Given the description of an element on the screen output the (x, y) to click on. 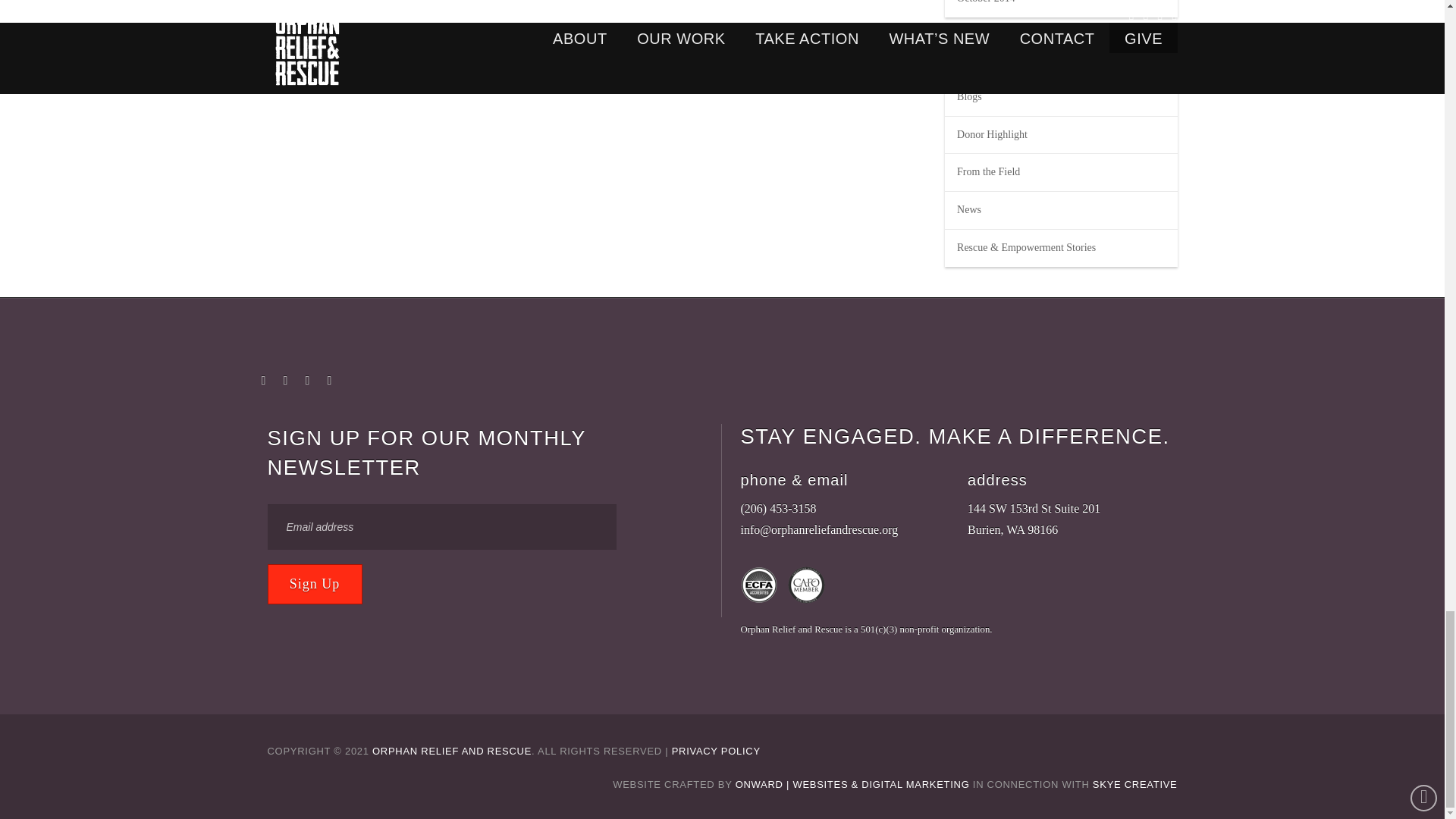
Sign Up (313, 583)
